Given the description of an element on the screen output the (x, y) to click on. 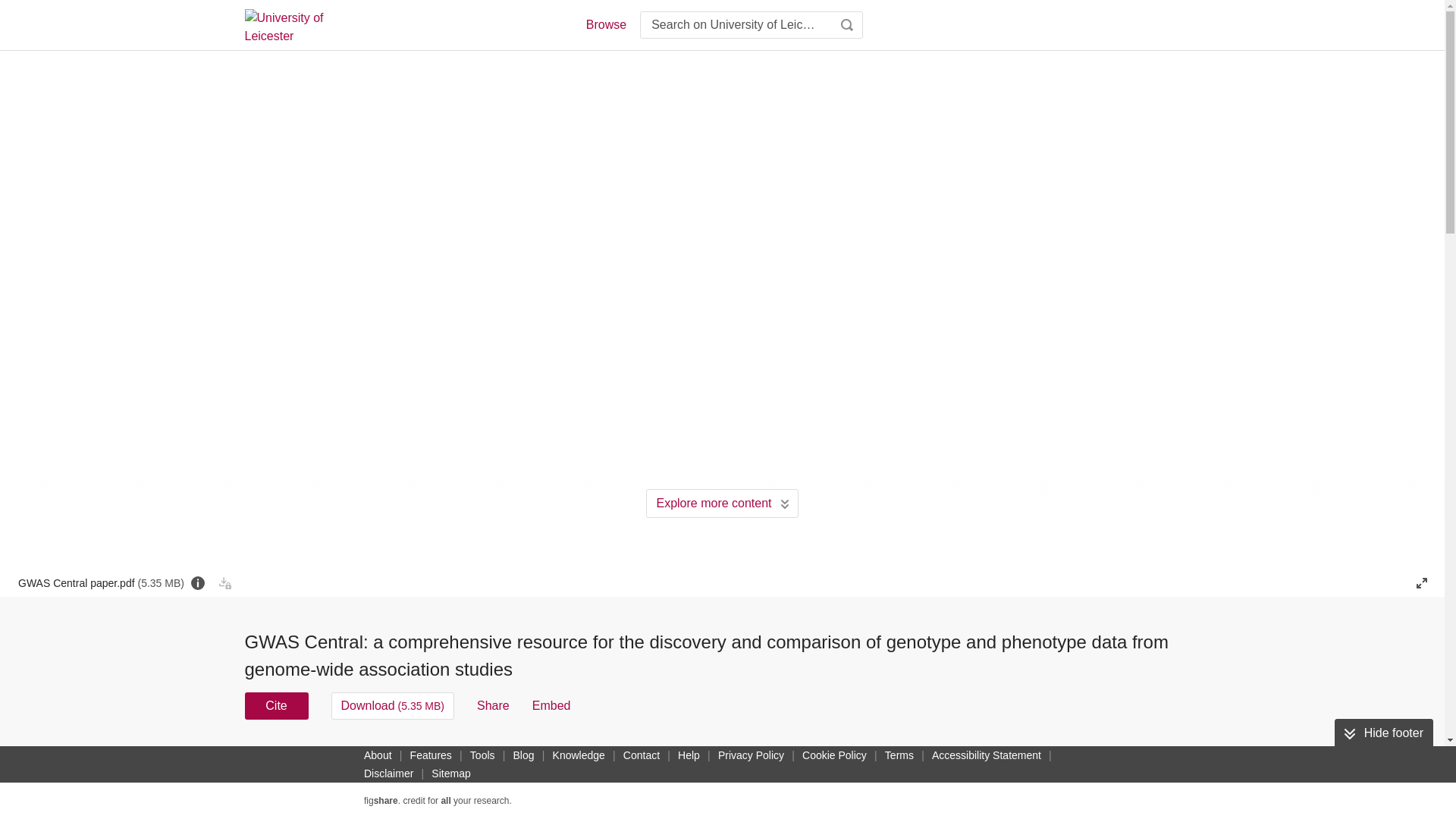
Features (431, 755)
Browse (605, 24)
Accessibility Statement (986, 755)
Knowledge (579, 755)
Help (688, 755)
Tools (482, 755)
About (377, 755)
Cookie Policy (833, 755)
Share (493, 705)
Blog (523, 755)
